Given the description of an element on the screen output the (x, y) to click on. 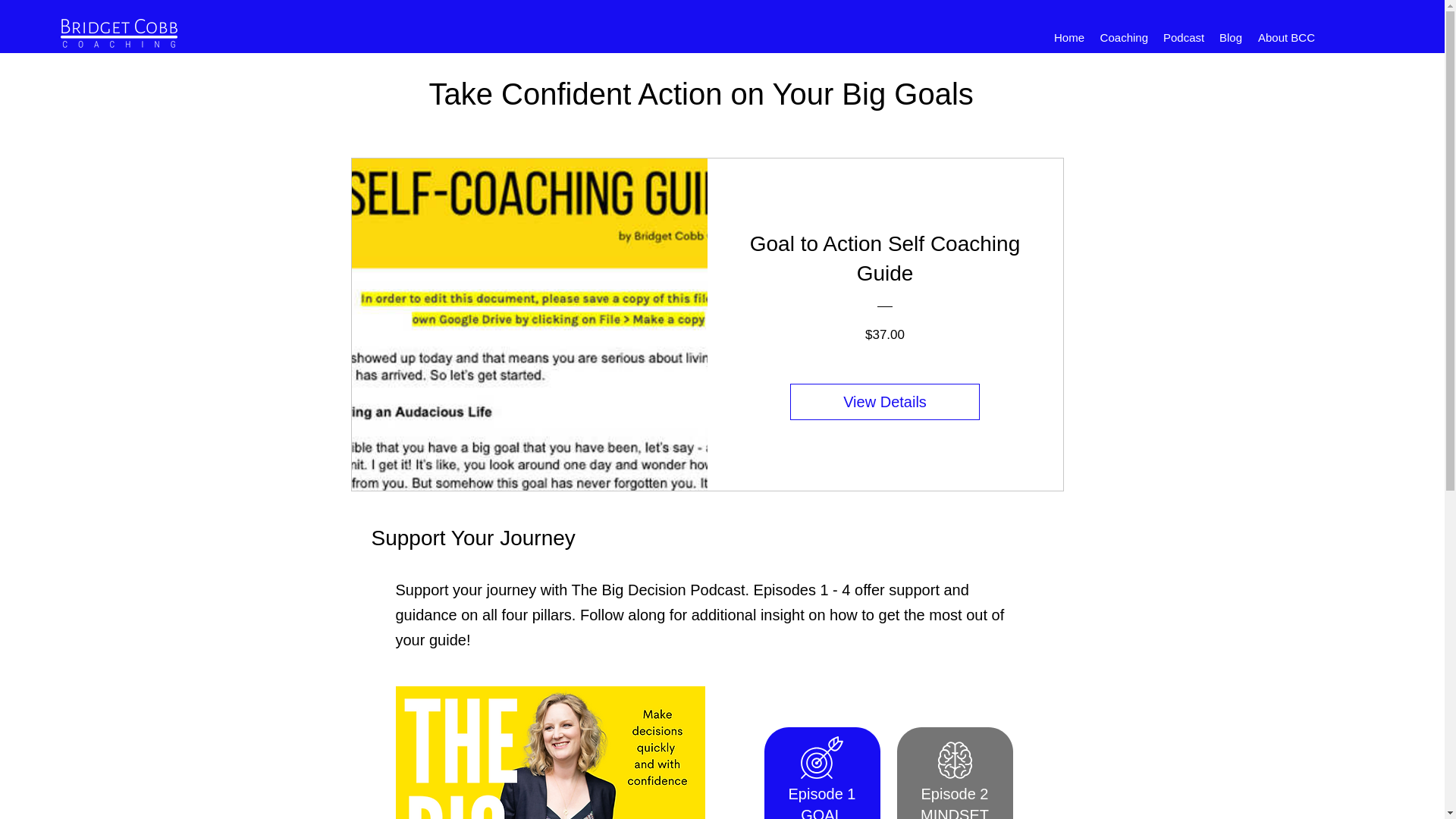
Podcast (1183, 37)
Coaching (1124, 37)
Blog (1230, 37)
About BCC (1285, 37)
Home (1068, 37)
View Details (884, 402)
